Given the description of an element on the screen output the (x, y) to click on. 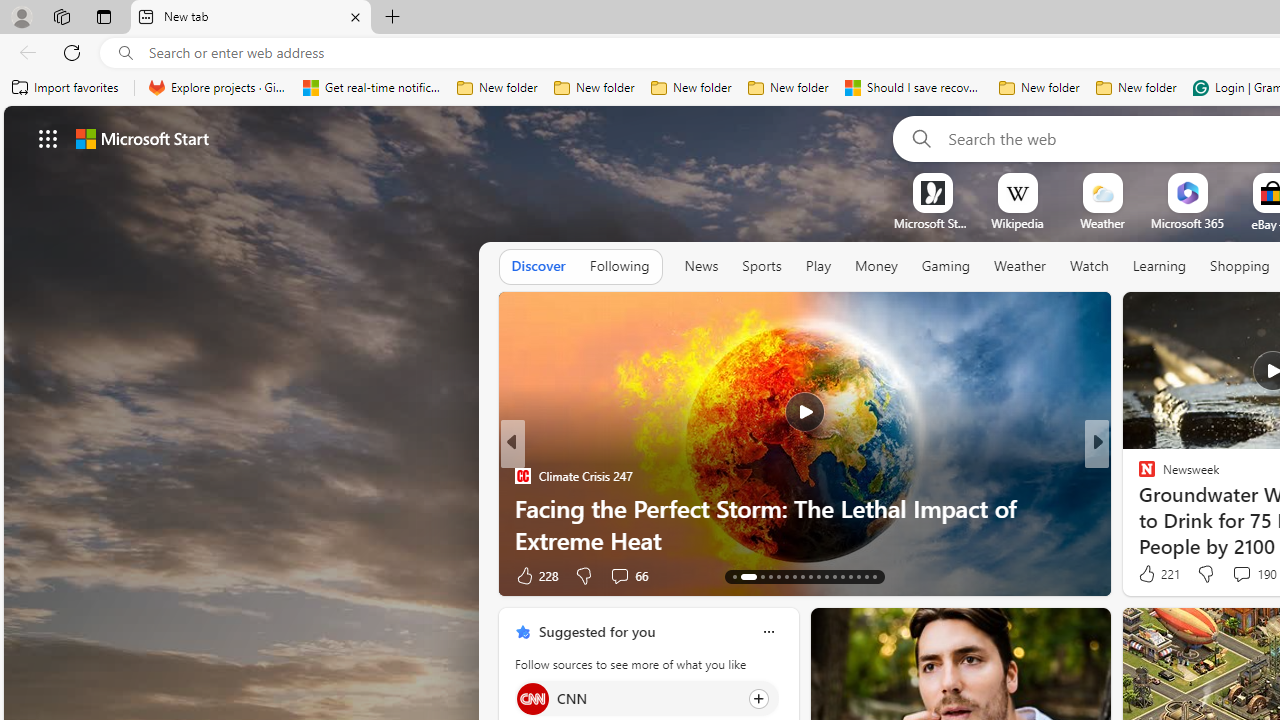
Should I save recovered Word documents? - Microsoft Support (913, 88)
Search icon (125, 53)
New folder (1136, 88)
Import favorites (65, 88)
